Given the description of an element on the screen output the (x, y) to click on. 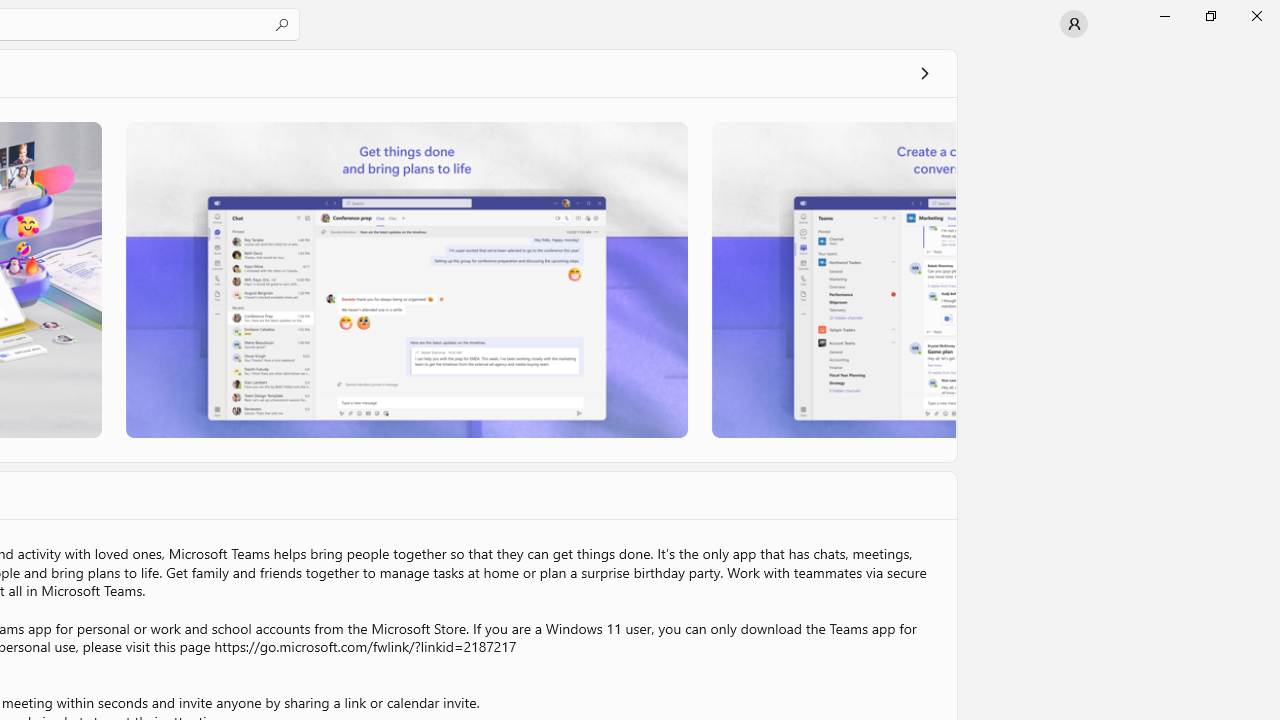
See all (924, 72)
Screenshot 3 (833, 279)
Screenshot 2 (406, 279)
